Given the description of an element on the screen output the (x, y) to click on. 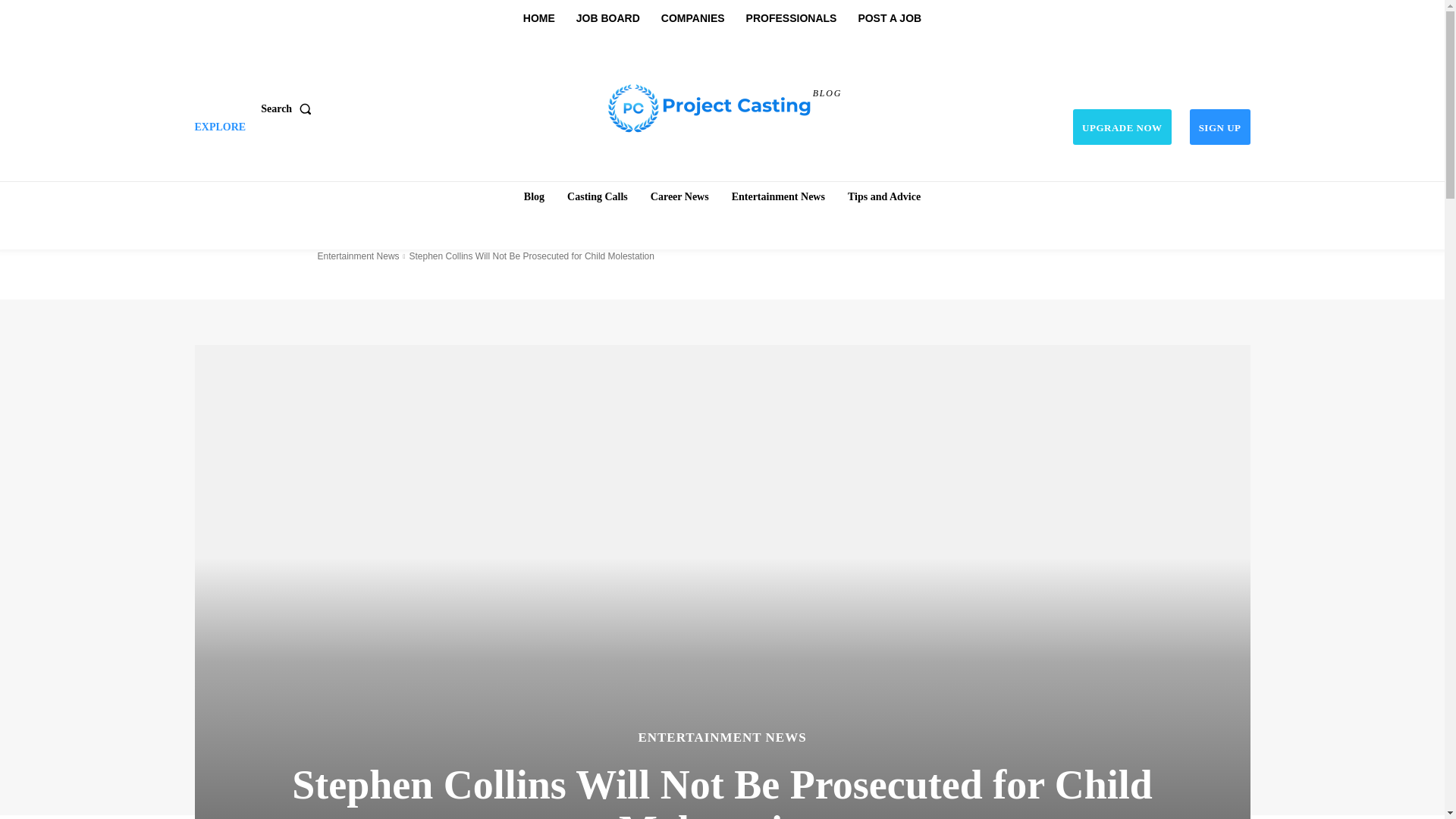
UPGRADE NOW (1122, 126)
Home (533, 196)
BLOG (724, 106)
Upgrade Now (1122, 126)
COMPANIES (692, 18)
EXPLORE (219, 126)
HOME (539, 18)
Search (288, 108)
Entertainment News (777, 196)
POST A JOB (889, 18)
JOB BOARD (608, 18)
Explore (219, 126)
SIGN UP (1219, 126)
Sign Up (1219, 126)
Casting Calls (596, 196)
